Given the description of an element on the screen output the (x, y) to click on. 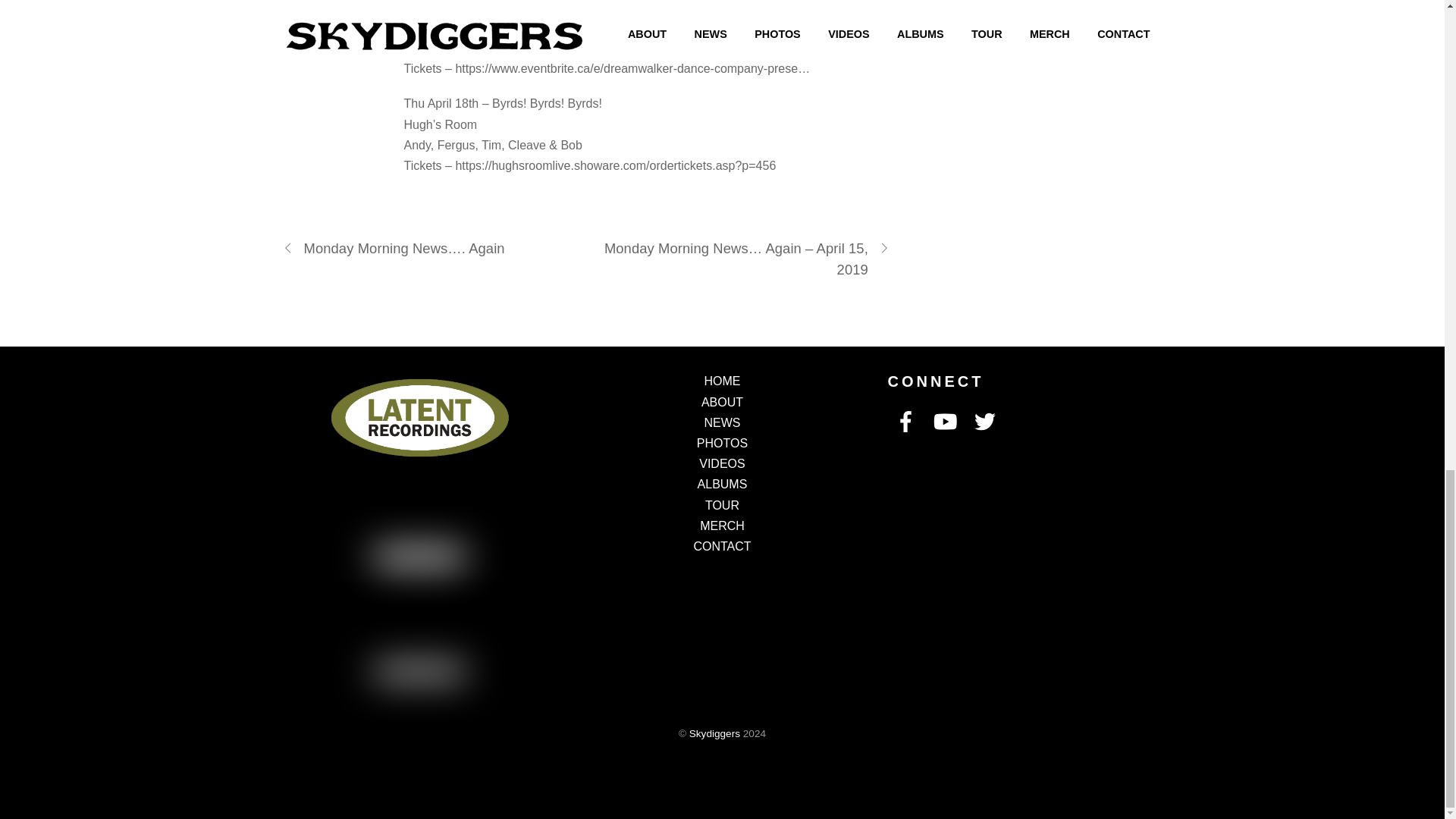
Dreamwalker Dance Company (604, 27)
All of Our Dreaming (793, 27)
